Given the description of an element on the screen output the (x, y) to click on. 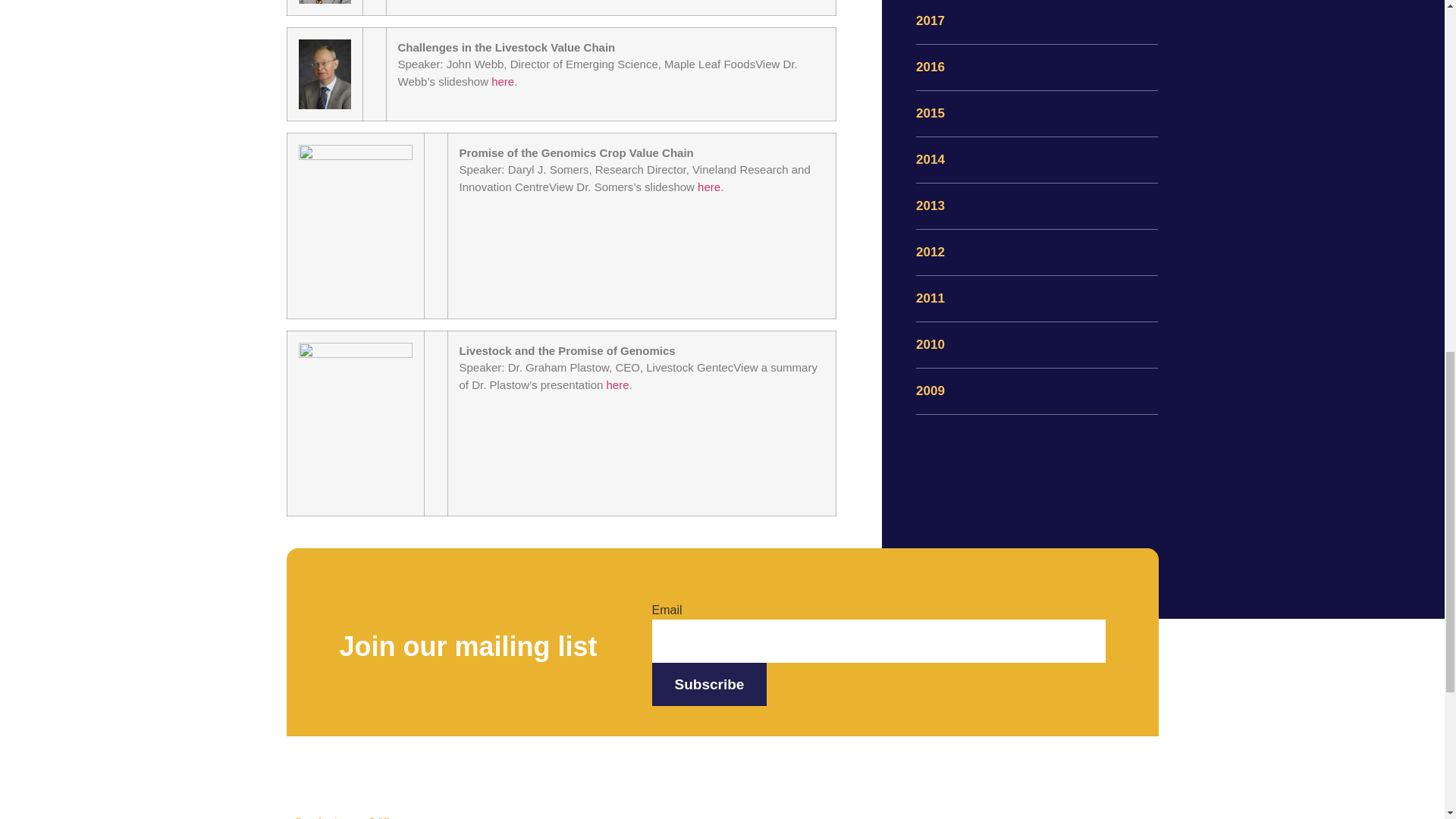
here (708, 186)
Subscribe (709, 683)
here (502, 81)
here (617, 384)
